Given the description of an element on the screen output the (x, y) to click on. 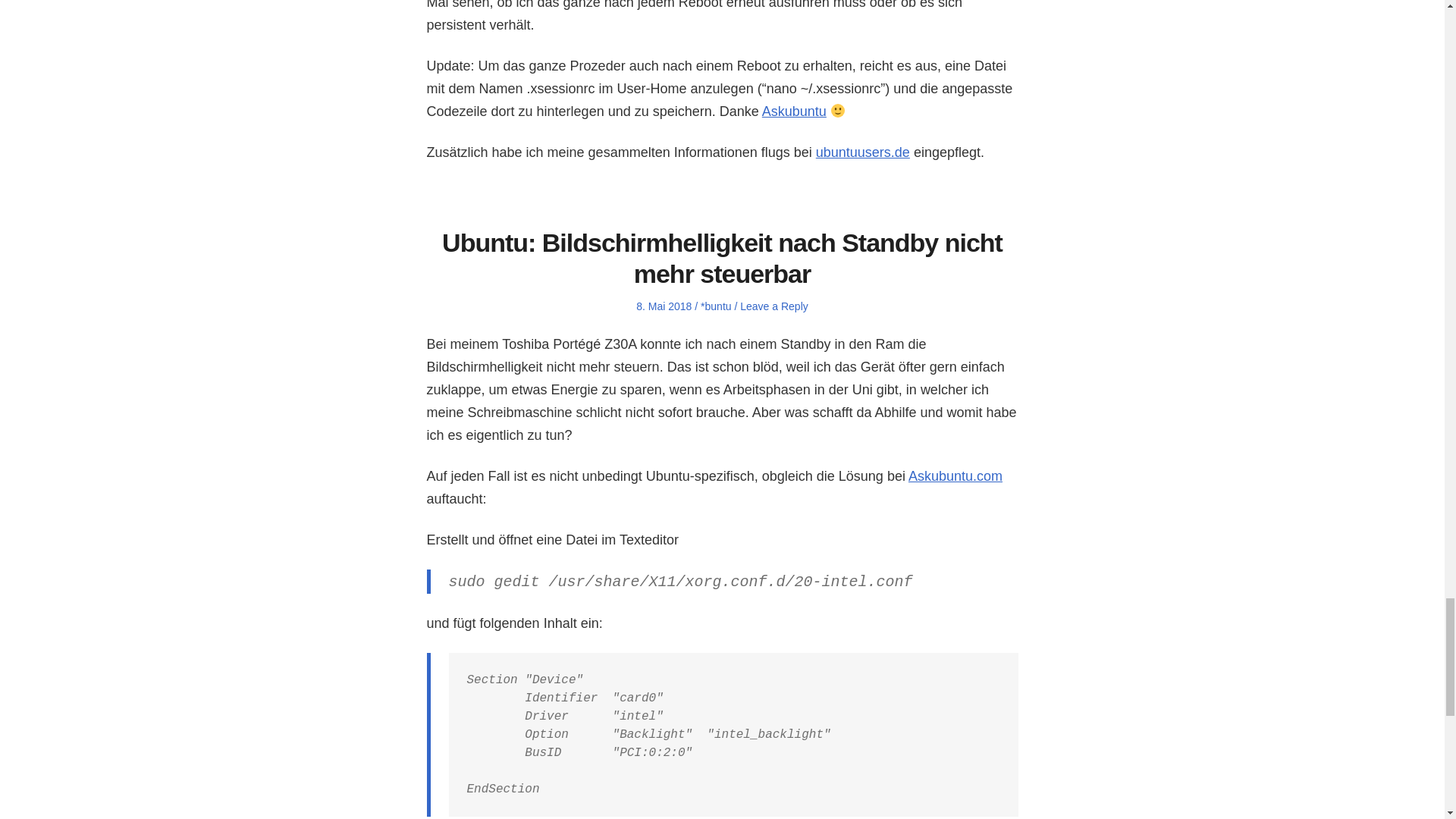
Askubuntu.com (955, 476)
Leave a Reply (773, 306)
ubuntuusers.de (862, 151)
8. Mai 2018 (663, 306)
Askubuntu (794, 111)
